Given the description of an element on the screen output the (x, y) to click on. 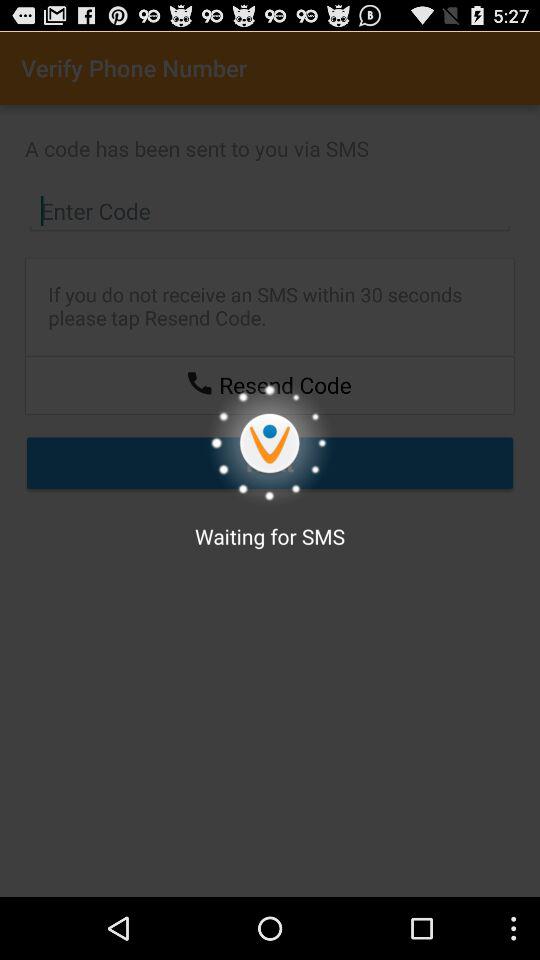
enter code option (269, 211)
